Given the description of an element on the screen output the (x, y) to click on. 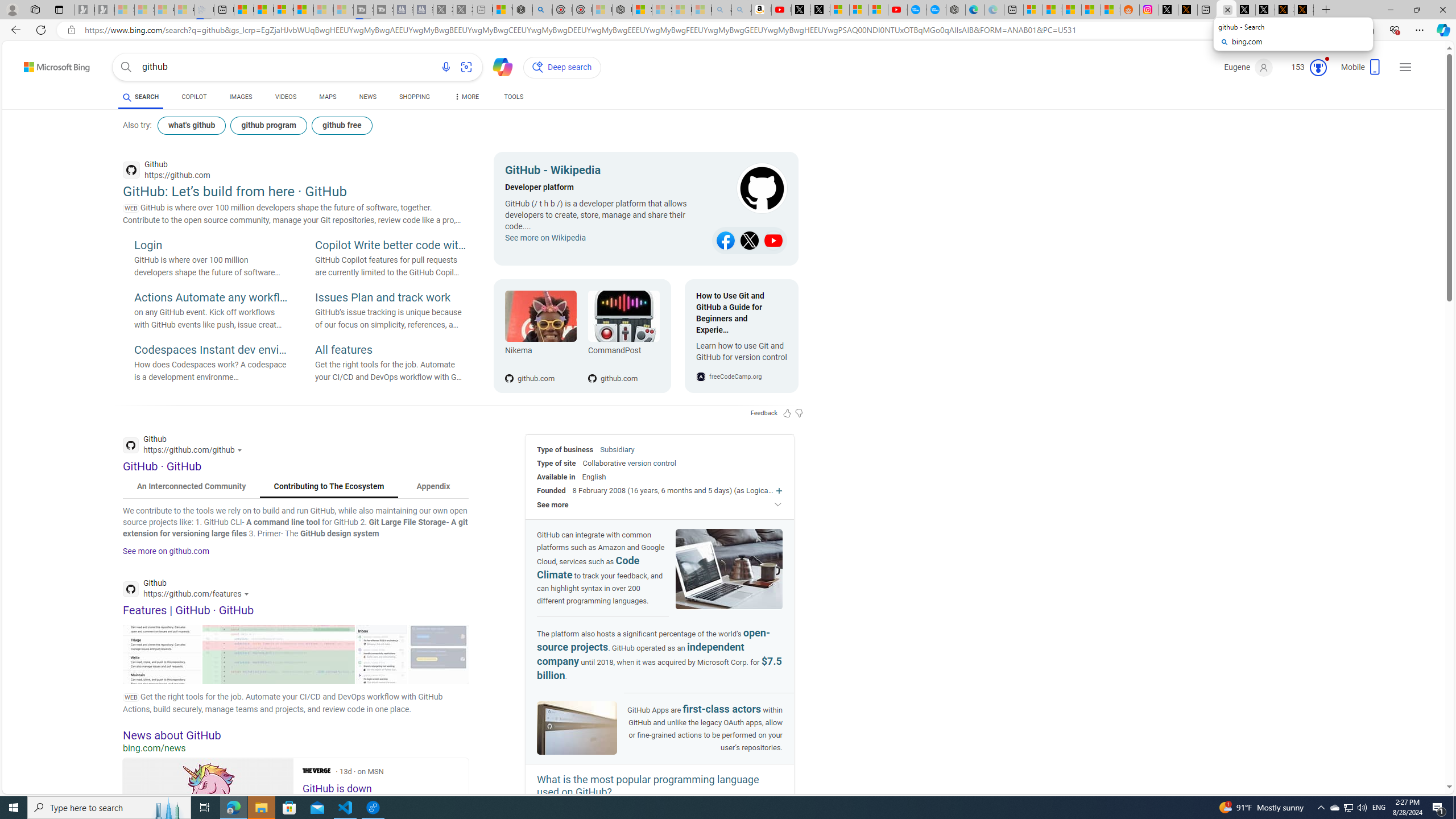
VIDEOS (285, 96)
Copilot Write better code with AI (391, 245)
MAPS (327, 96)
Feedback Dislike (798, 412)
MORE (465, 98)
Nordace - Nordace Siena Is Not An Ordinary Backpack (622, 9)
SEARCH (140, 96)
TOOLS (512, 96)
IMAGES (240, 98)
All features (391, 350)
Codespaces Instant dev environments (210, 350)
